Given the description of an element on the screen output the (x, y) to click on. 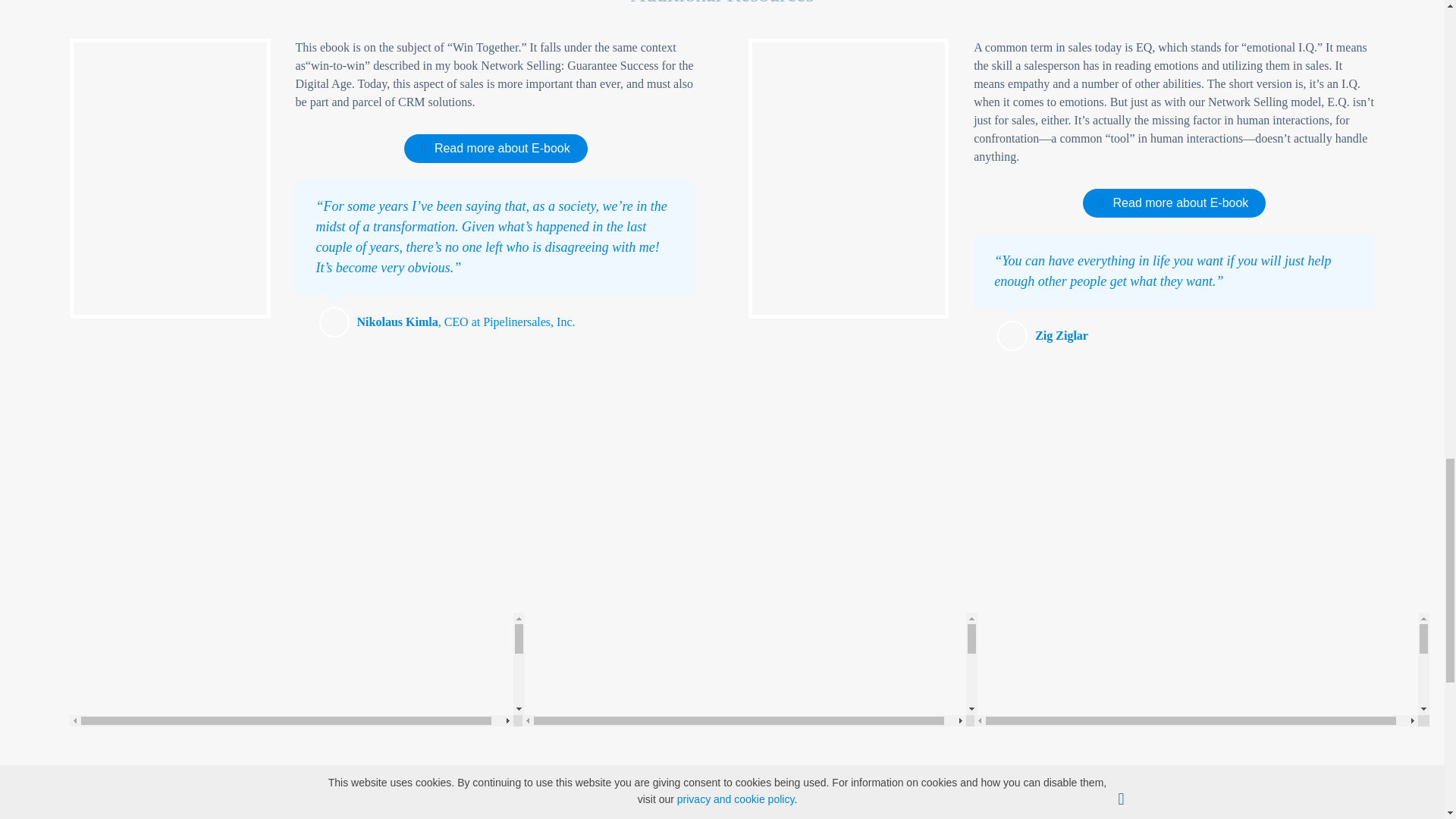
YouTube video player 2 (749, 669)
YouTube video player 1 (296, 669)
YouTube video player 3 (1201, 669)
